Given the description of an element on the screen output the (x, y) to click on. 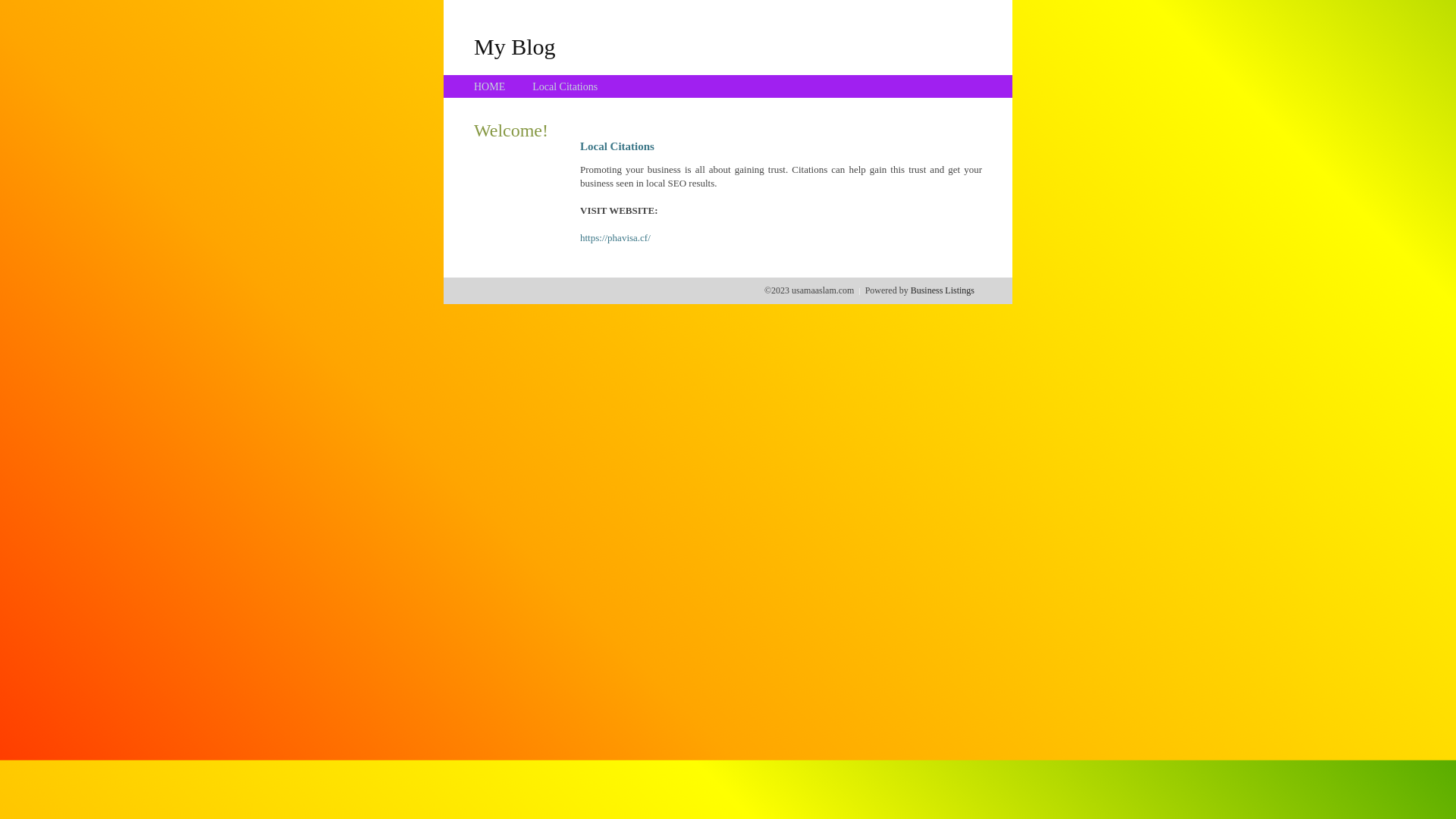
Local Citations Element type: text (564, 86)
HOME Element type: text (489, 86)
My Blog Element type: text (514, 46)
https://phavisa.cf/ Element type: text (615, 237)
Business Listings Element type: text (942, 290)
